Given the description of an element on the screen output the (x, y) to click on. 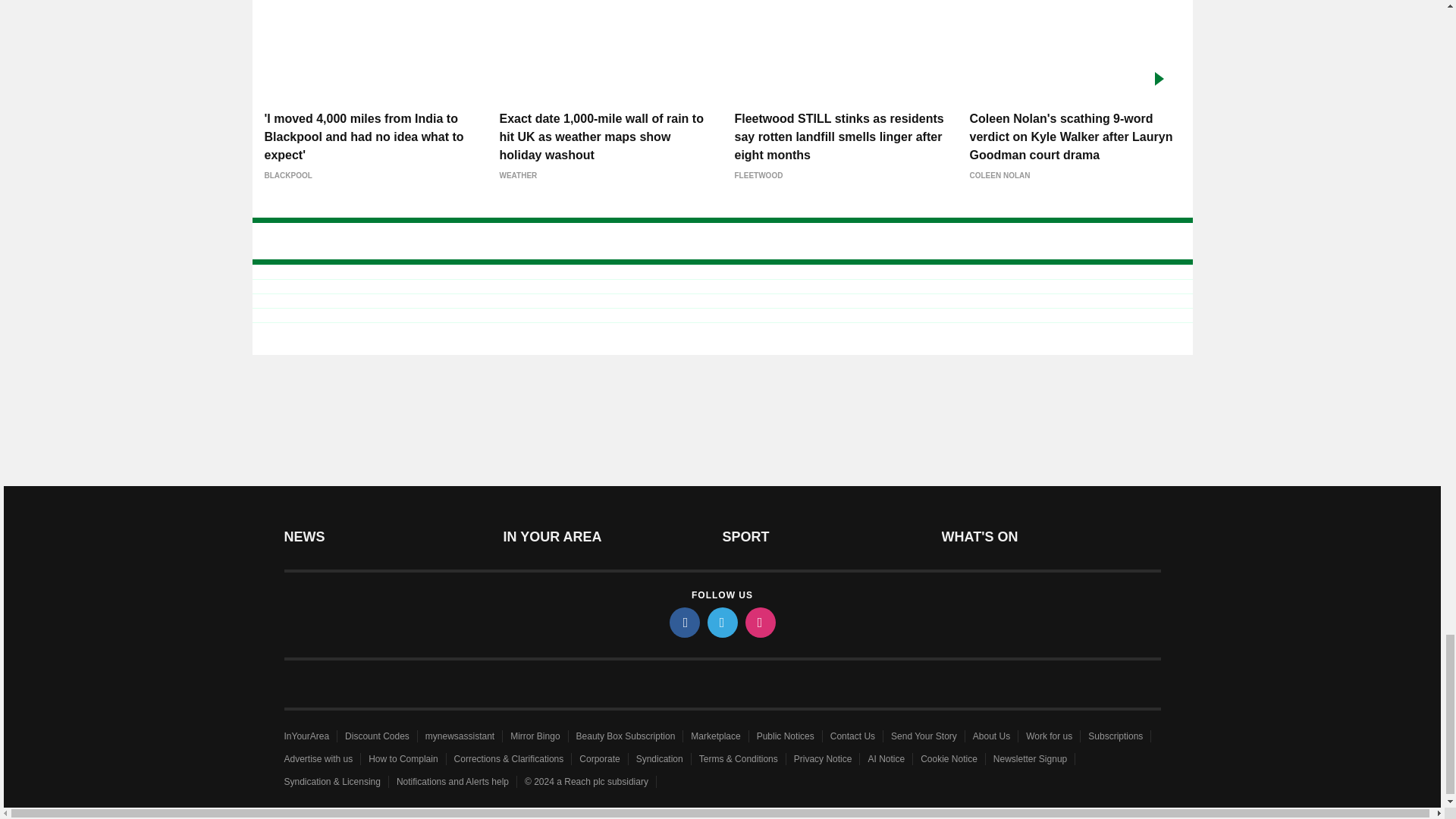
twitter (721, 622)
instagram (759, 622)
facebook (683, 622)
